Given the description of an element on the screen output the (x, y) to click on. 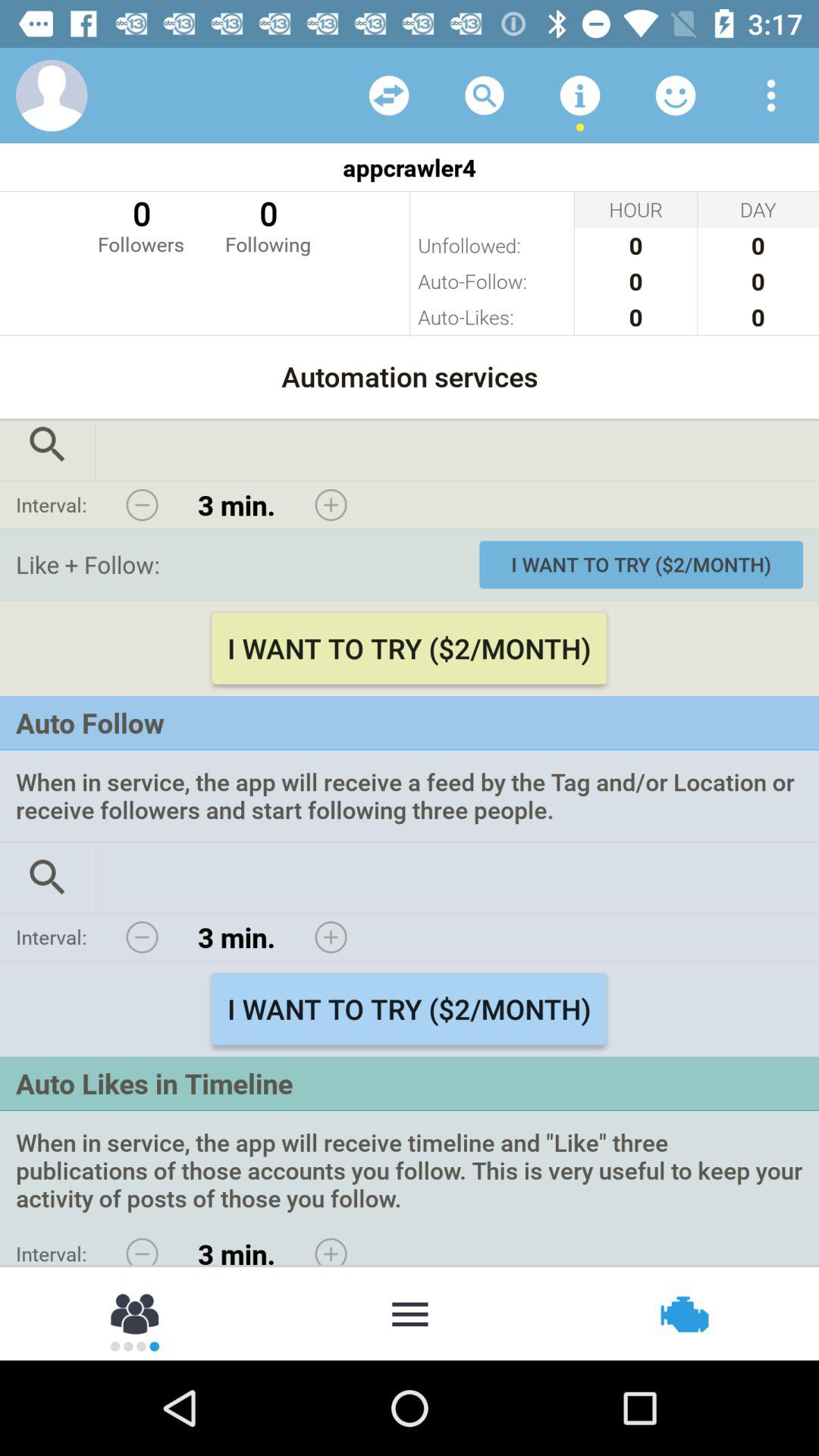
search icon (47, 450)
